Given the description of an element on the screen output the (x, y) to click on. 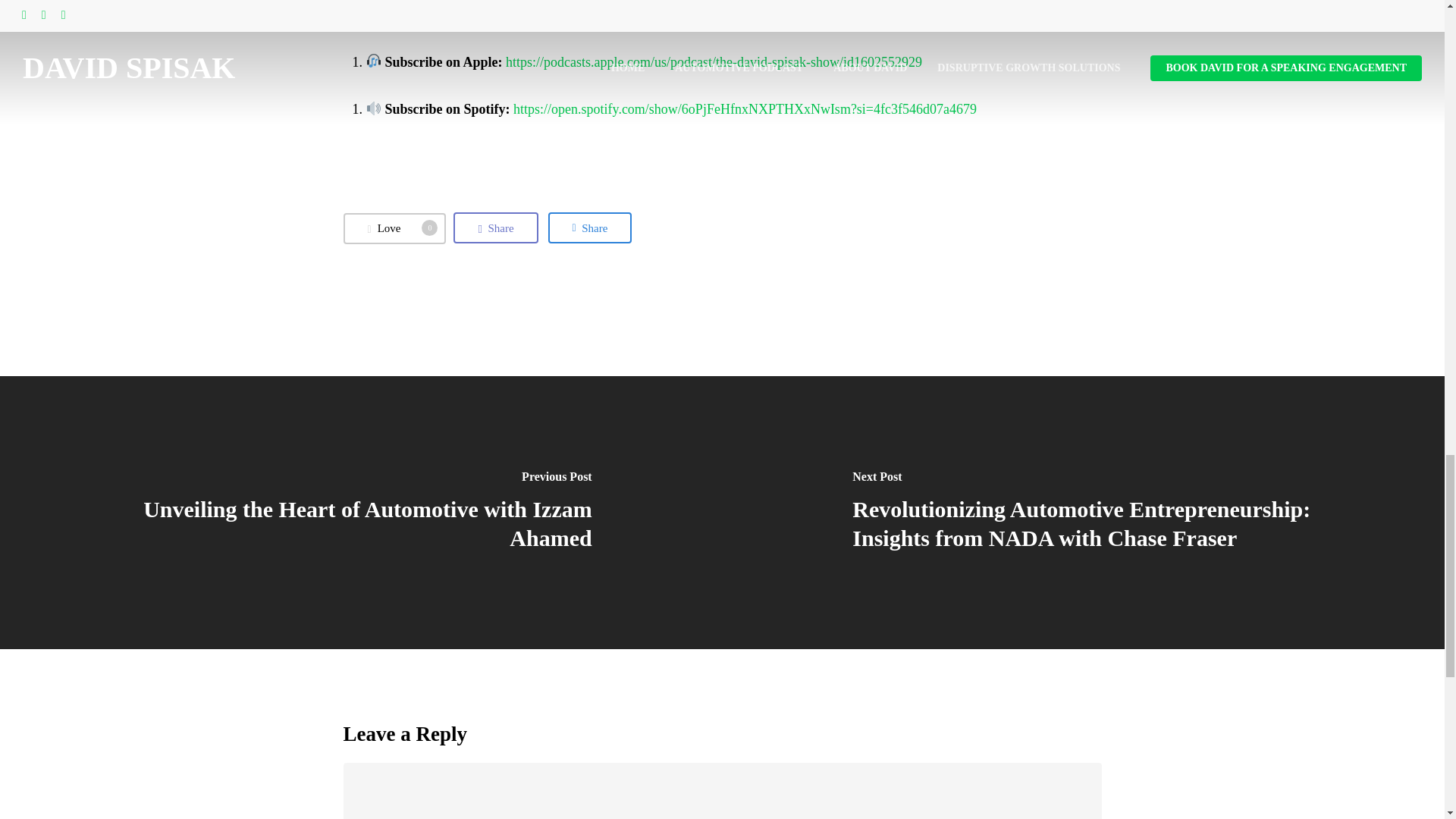
Share (494, 227)
Share this (494, 227)
Share this (589, 227)
Share (393, 228)
Love this (589, 227)
